Given the description of an element on the screen output the (x, y) to click on. 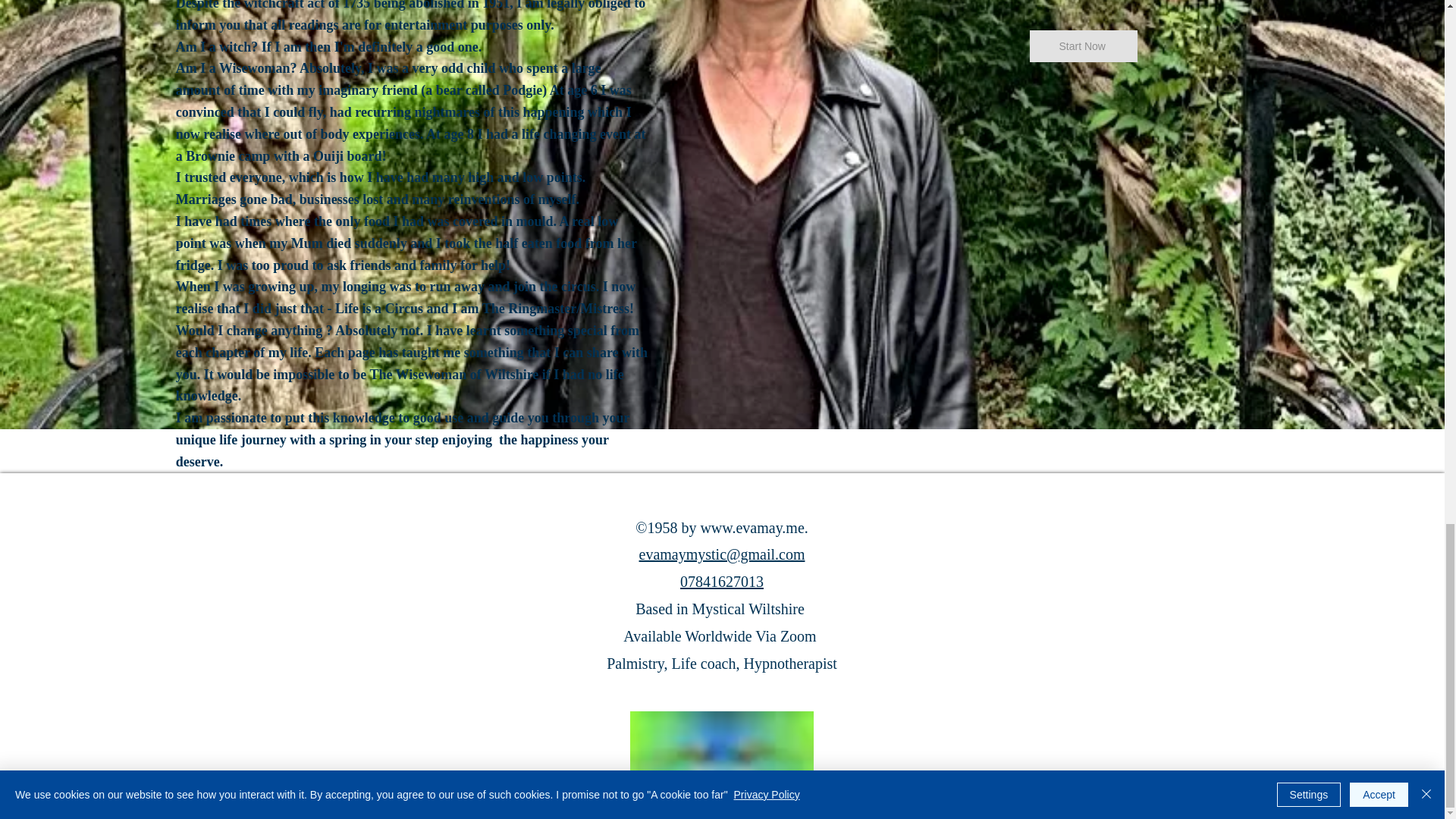
www.evamay.me (751, 527)
Start Now (1083, 46)
07841627013 (720, 581)
